Given the description of an element on the screen output the (x, y) to click on. 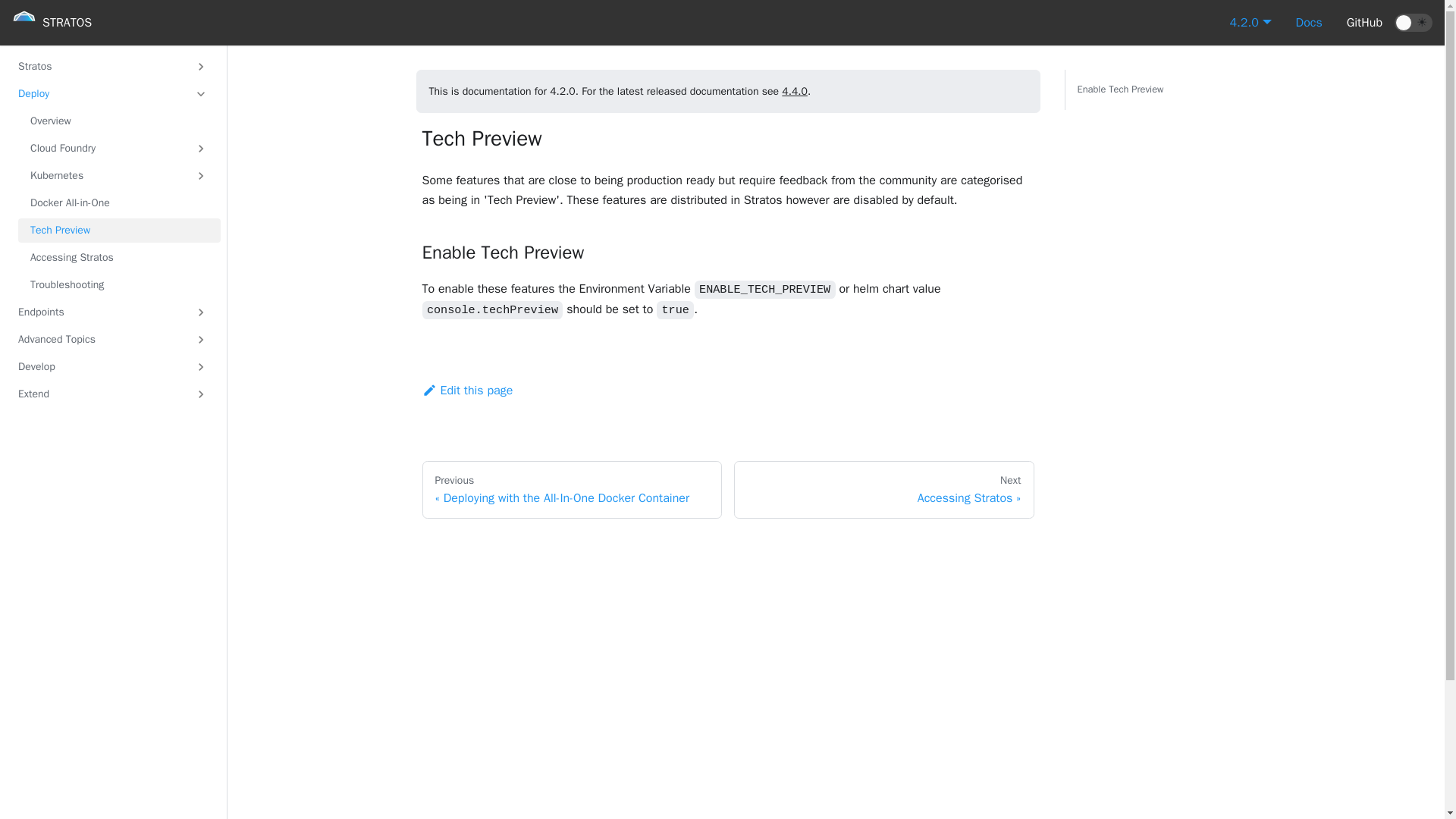
Docker All-in-One (119, 202)
Kubernetes (119, 175)
Deploy (113, 93)
Docs (1309, 22)
Cloud Foundry (119, 148)
Stratos (113, 66)
GitHub (1364, 22)
STRATOS (51, 22)
Overview (119, 120)
